Given the description of an element on the screen output the (x, y) to click on. 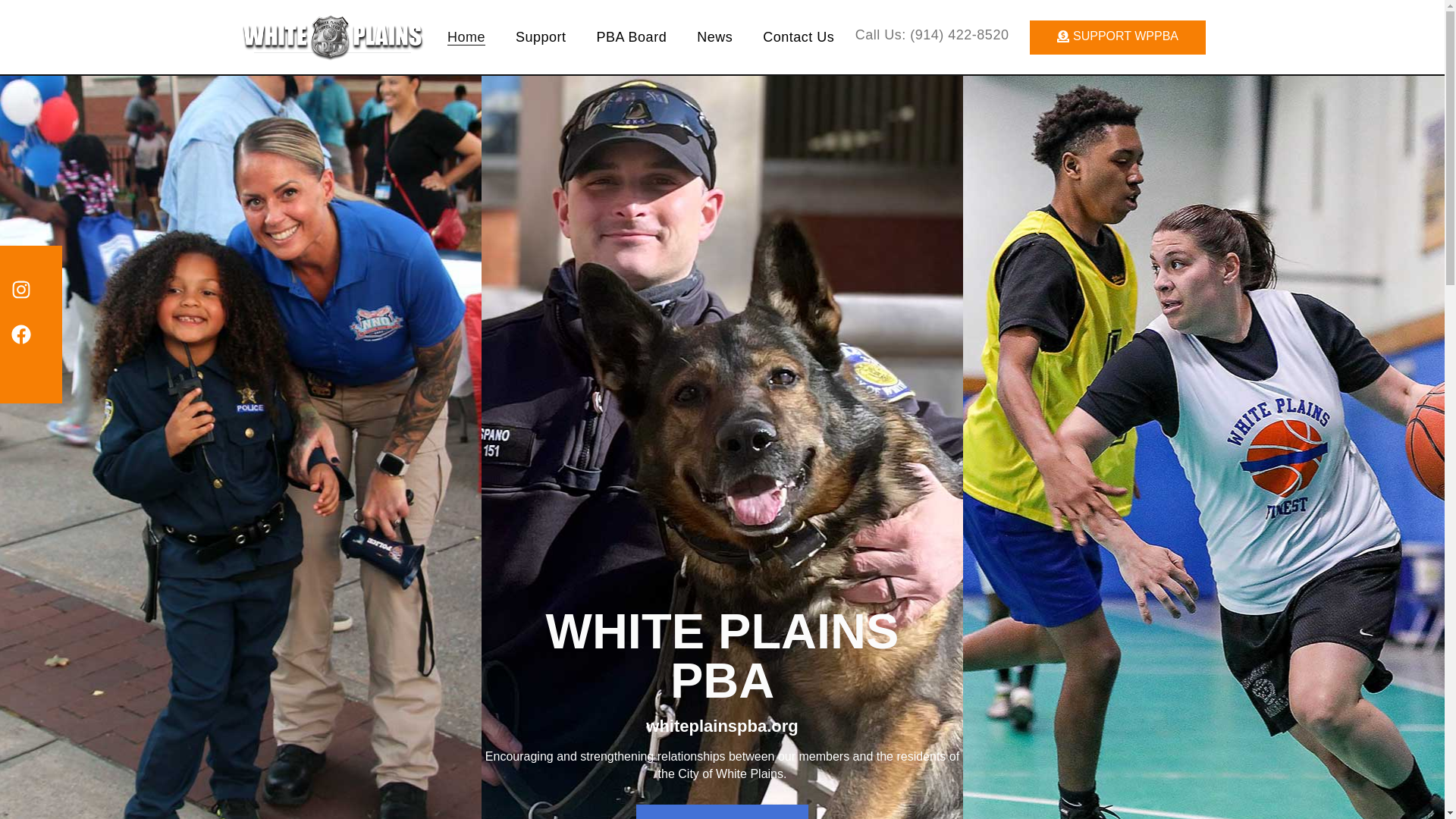
Home (465, 36)
PBA Board (631, 36)
SUPPORT WPPBA (1117, 36)
ABOUT US (722, 811)
Support (540, 36)
Contact Us (798, 36)
News (714, 36)
